Given the description of an element on the screen output the (x, y) to click on. 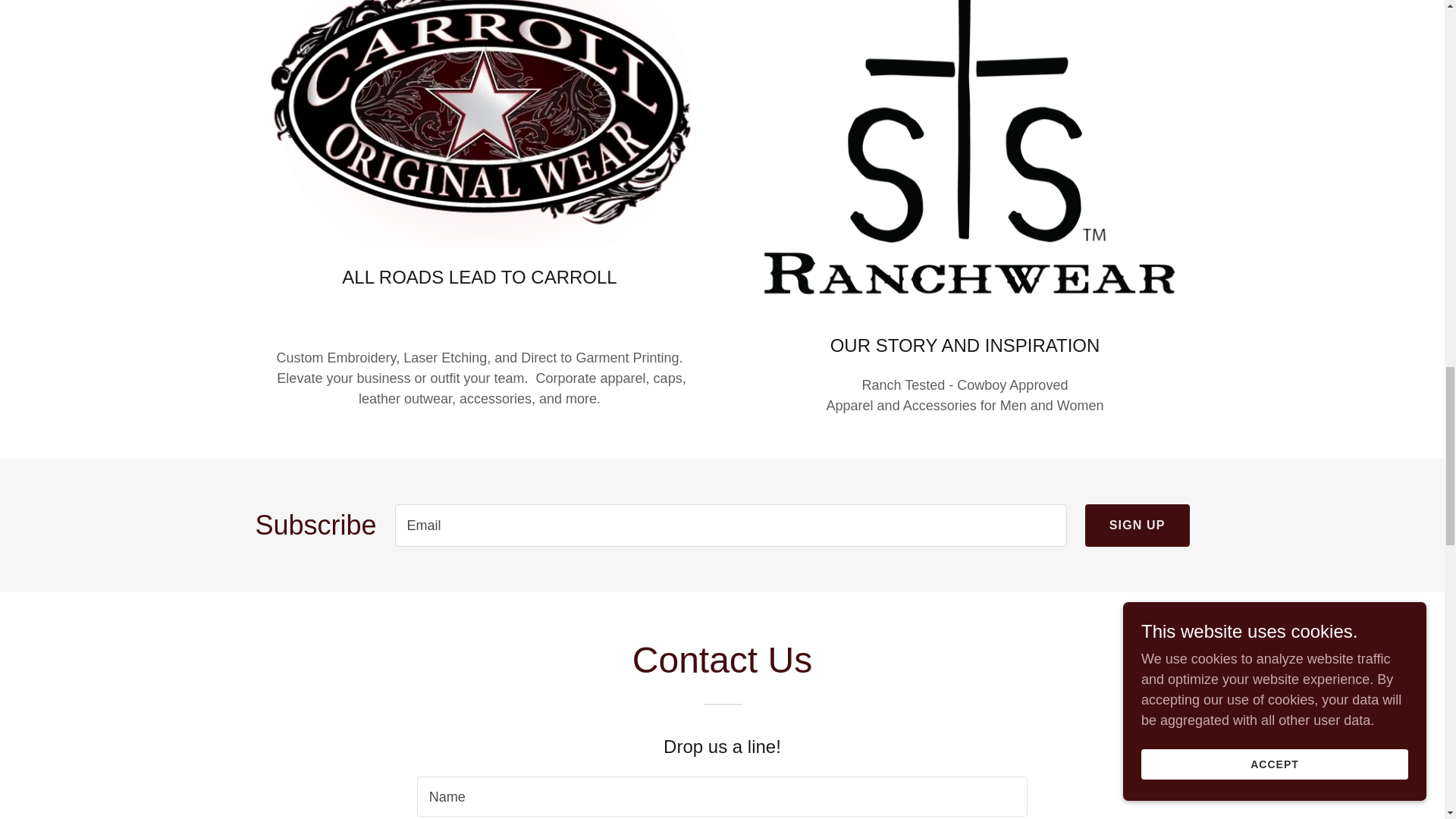
SIGN UP (1136, 525)
